Given the description of an element on the screen output the (x, y) to click on. 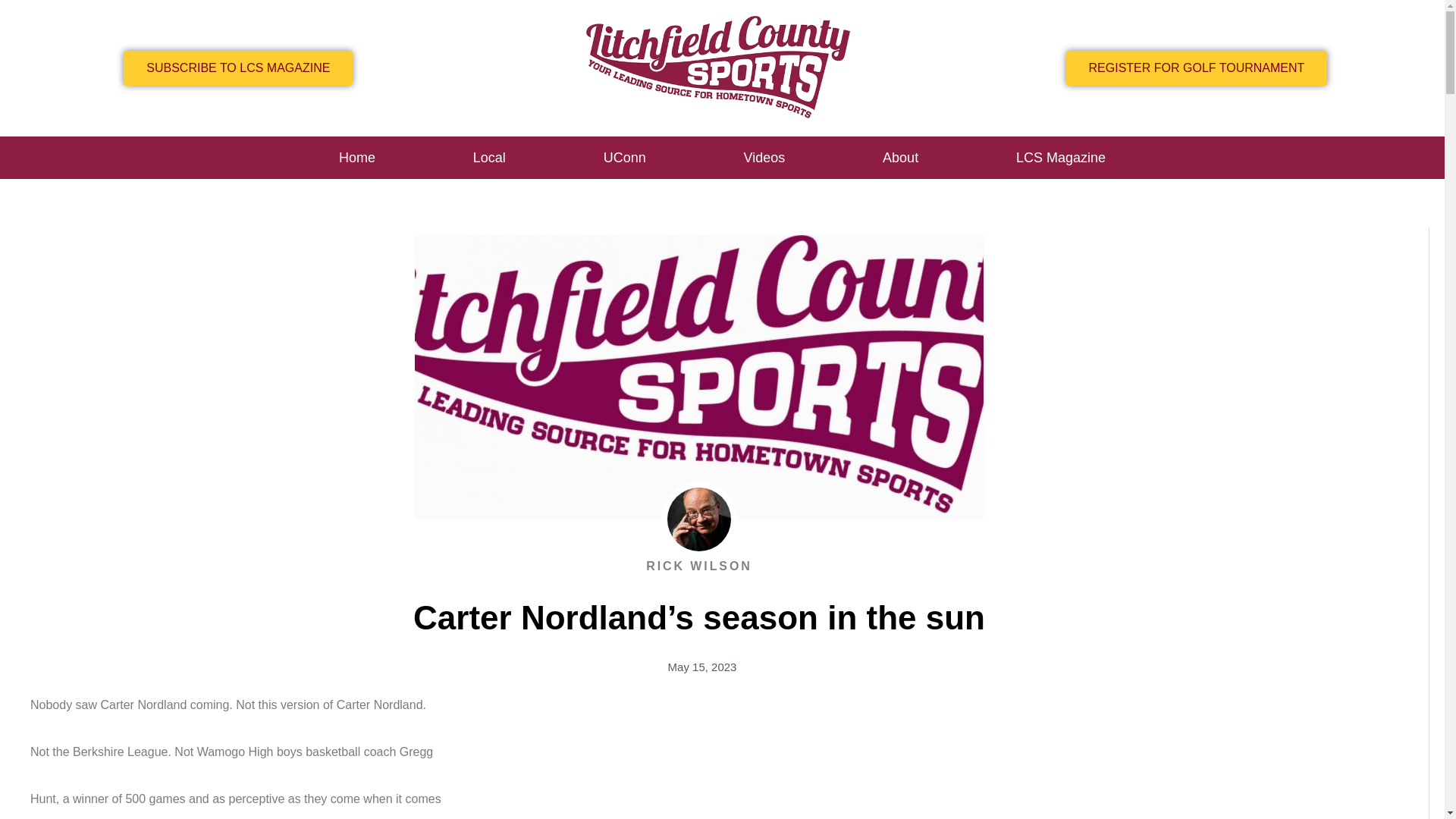
Local (488, 157)
UConn (624, 157)
LCS Magazine (1061, 157)
Home (356, 157)
Videos (764, 157)
About (901, 157)
REGISTER FOR GOLF TOURNAMENT (1196, 67)
SUBSCRIBE TO LCS MAGAZINE (237, 67)
